Given the description of an element on the screen output the (x, y) to click on. 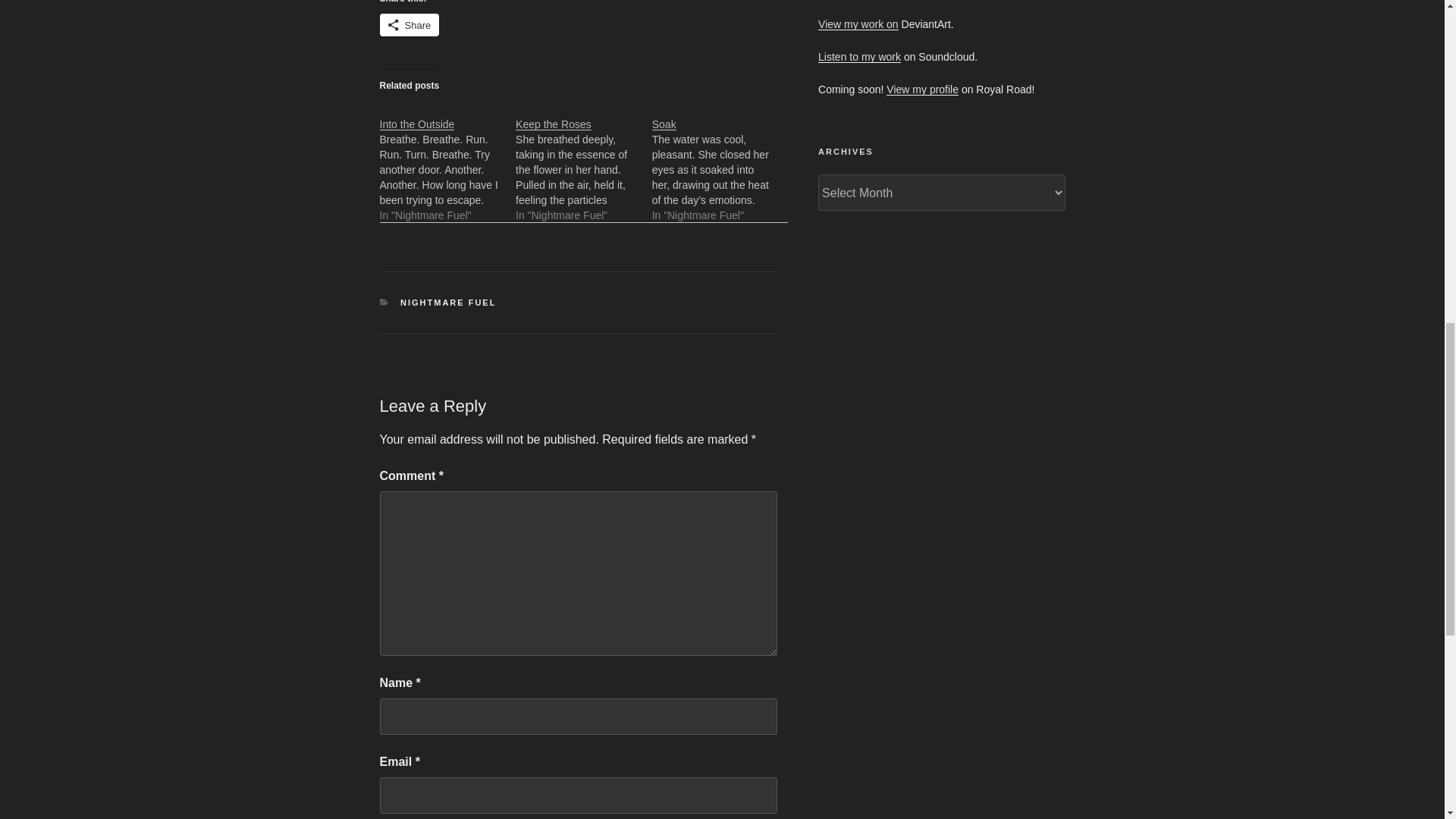
NIGHTMARE FUEL (448, 302)
Into the Outside (416, 123)
Into the Outside (446, 161)
Keep the Roses (553, 123)
Share (408, 24)
Keep the Roses (583, 161)
Into the Outside (416, 123)
View my work on (858, 24)
Soak (664, 123)
